Given the description of an element on the screen output the (x, y) to click on. 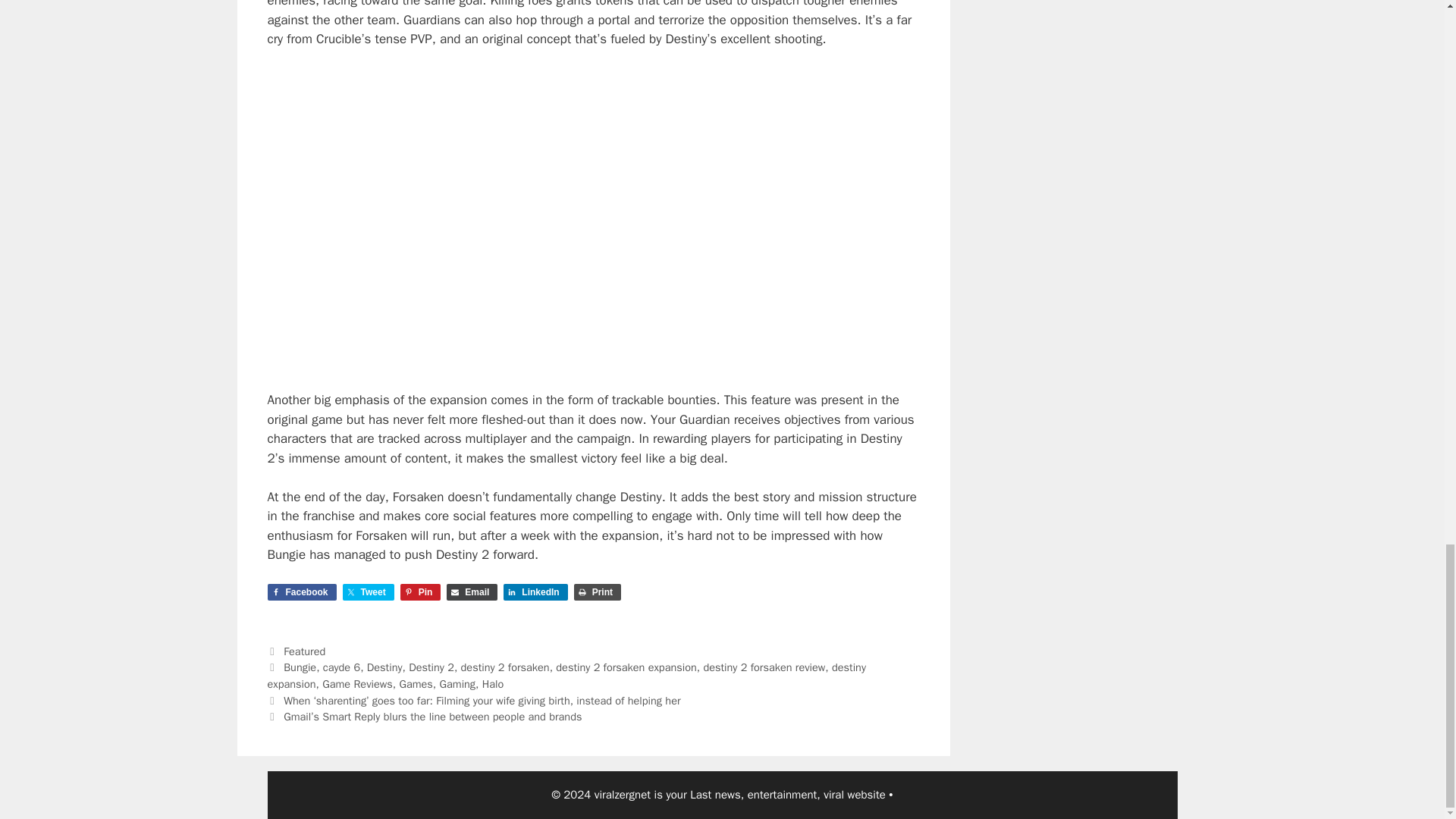
Print (597, 591)
Featured (303, 651)
Print this Page (597, 591)
Email (471, 591)
Pin (420, 591)
Email (471, 591)
Destiny (384, 667)
Halo (492, 684)
Share on Twitter (368, 591)
destiny expansion (565, 675)
